Given the description of an element on the screen output the (x, y) to click on. 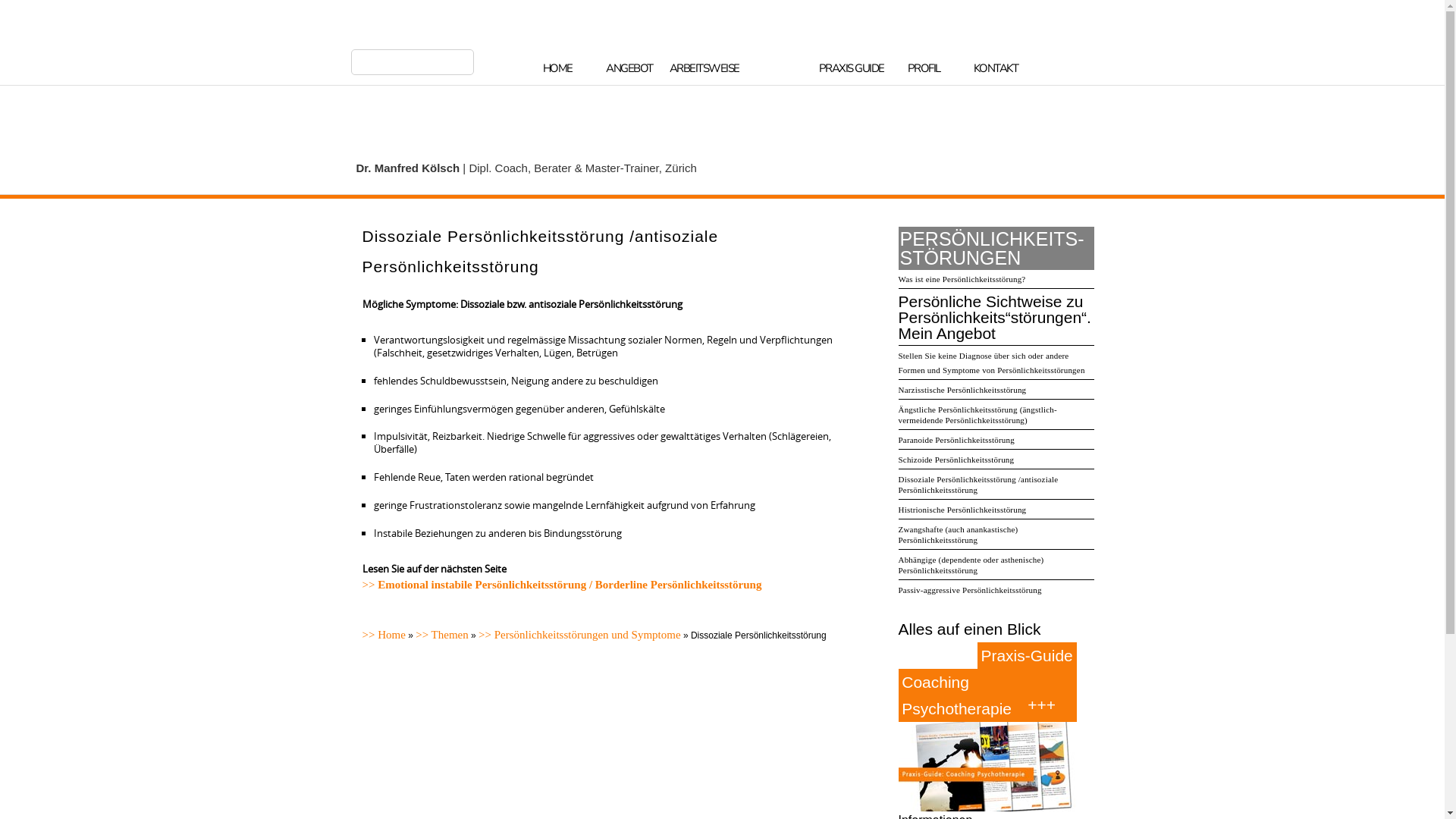
Home Element type: text (383, 634)
HOME Element type: text (556, 69)
ANGEBOT Element type: text (629, 69)
KONTAKT Element type: text (995, 69)
PROFIL Element type: text (923, 69)
THEMEN Element type: text (778, 69)
ARBEITSWEISE Element type: text (703, 69)
Themen Element type: text (441, 634)
PRAXIS GUIDE Element type: text (851, 69)
